Given the description of an element on the screen output the (x, y) to click on. 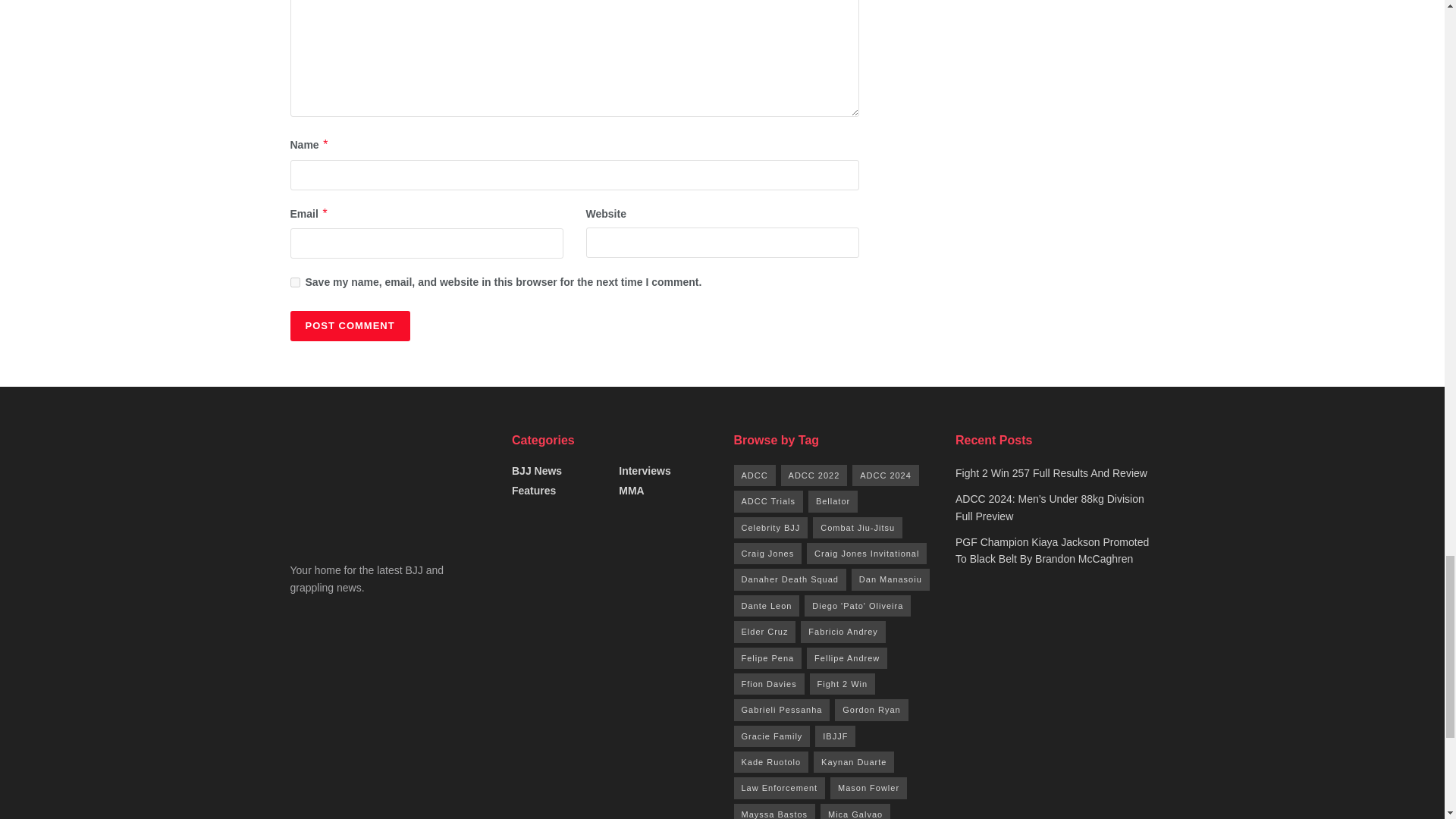
Post Comment (349, 326)
yes (294, 282)
